Given the description of an element on the screen output the (x, y) to click on. 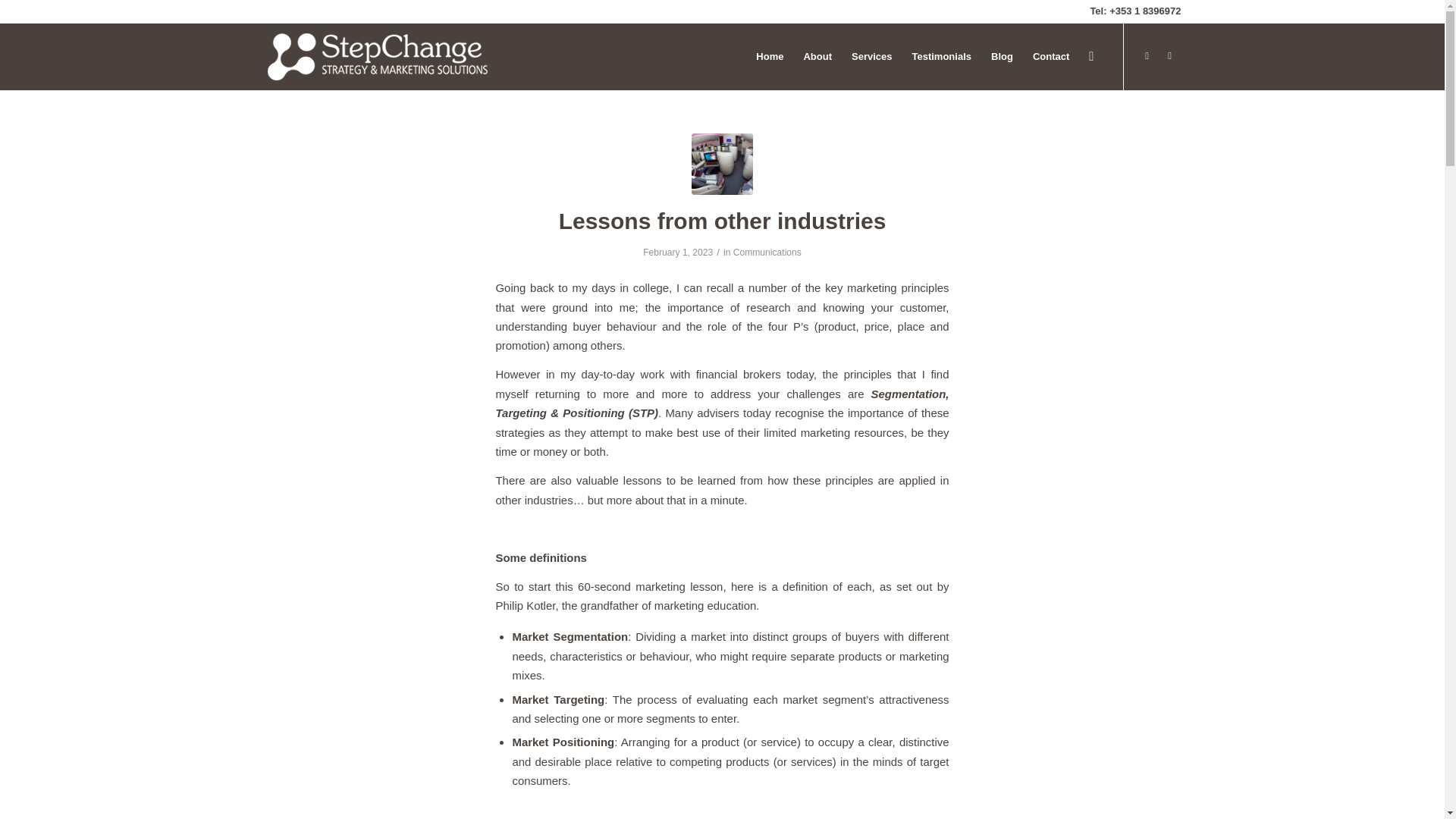
LinkedIn (1169, 56)
Lessons from other industries (721, 163)
Communications (767, 252)
X (1146, 56)
Testimonials (941, 56)
Permanent Link: Lessons from other industries (722, 220)
Lessons from other industries (722, 220)
Services (871, 56)
